Given the description of an element on the screen output the (x, y) to click on. 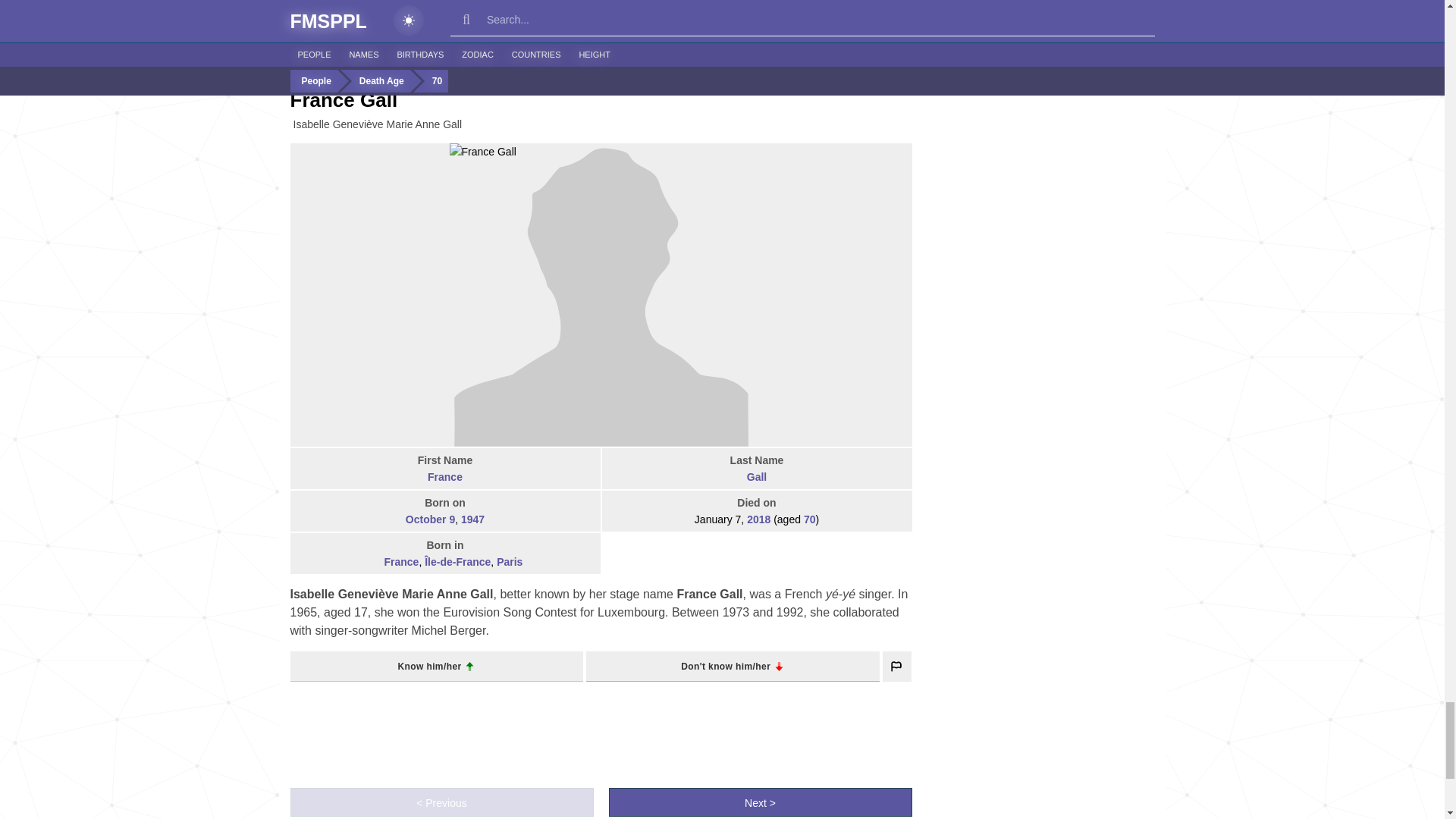
France (374, 562)
